Given the description of an element on the screen output the (x, y) to click on. 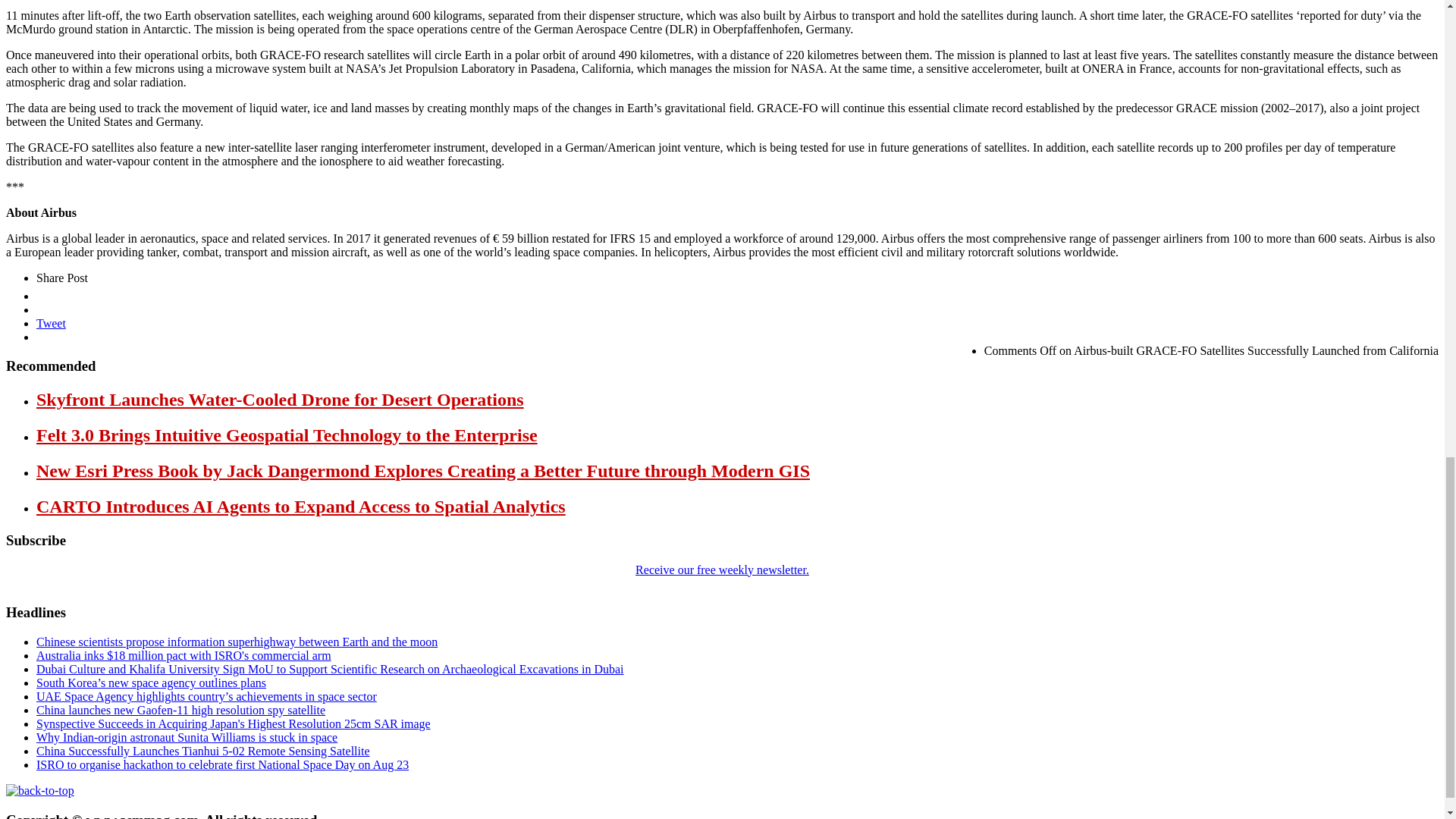
Skyfront Launches Water-Cooled Drone for Desert Operations (280, 399)
